Given the description of an element on the screen output the (x, y) to click on. 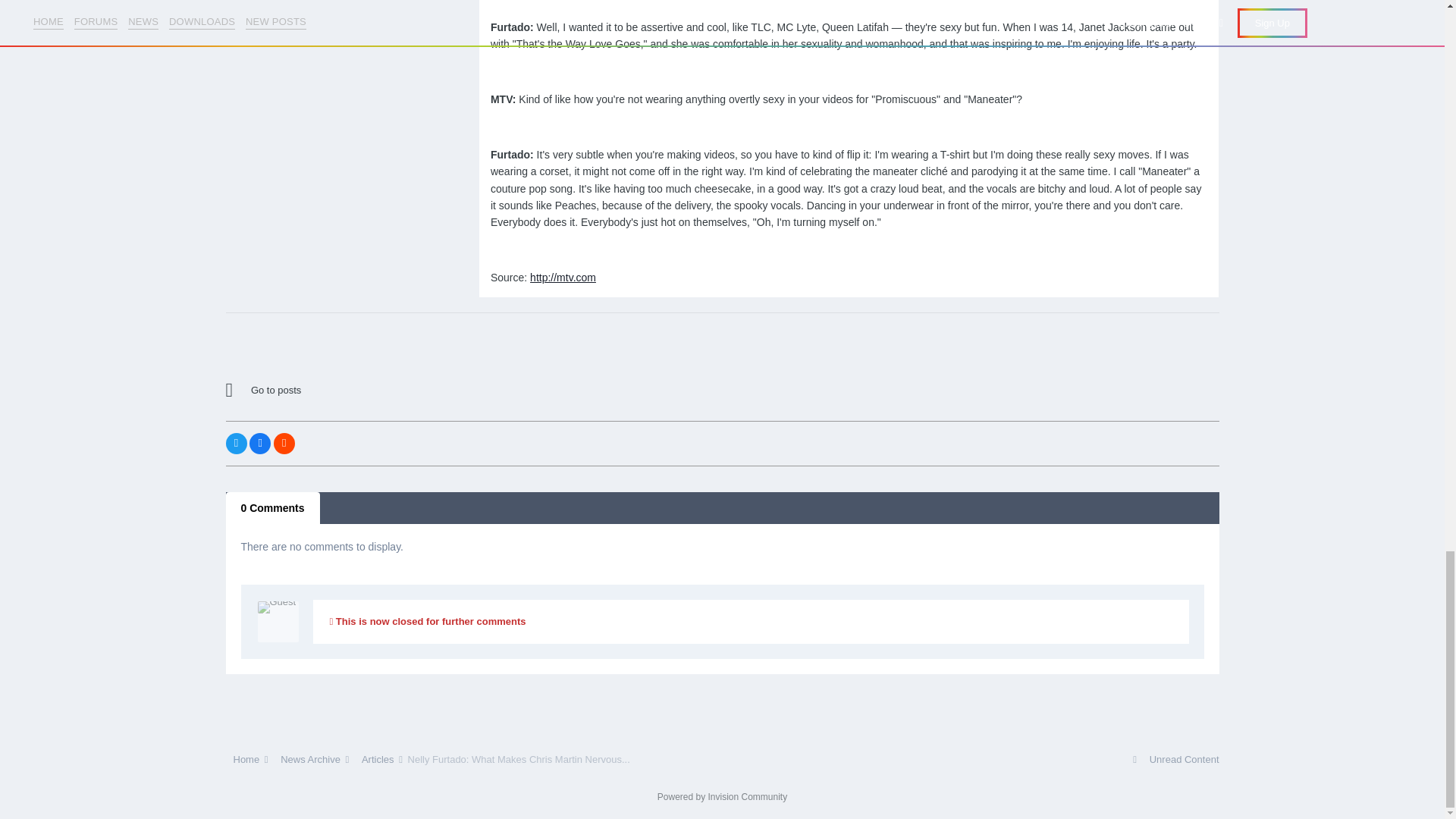
0 Comments (272, 508)
0 Comments (272, 508)
Invision Community (722, 796)
Home (247, 758)
Share on Facebook (259, 443)
Go to posts (358, 390)
Share on Reddit (284, 443)
Unread Content (1174, 758)
Share on Twitter (236, 443)
Go to Articles (358, 390)
